Given the description of an element on the screen output the (x, y) to click on. 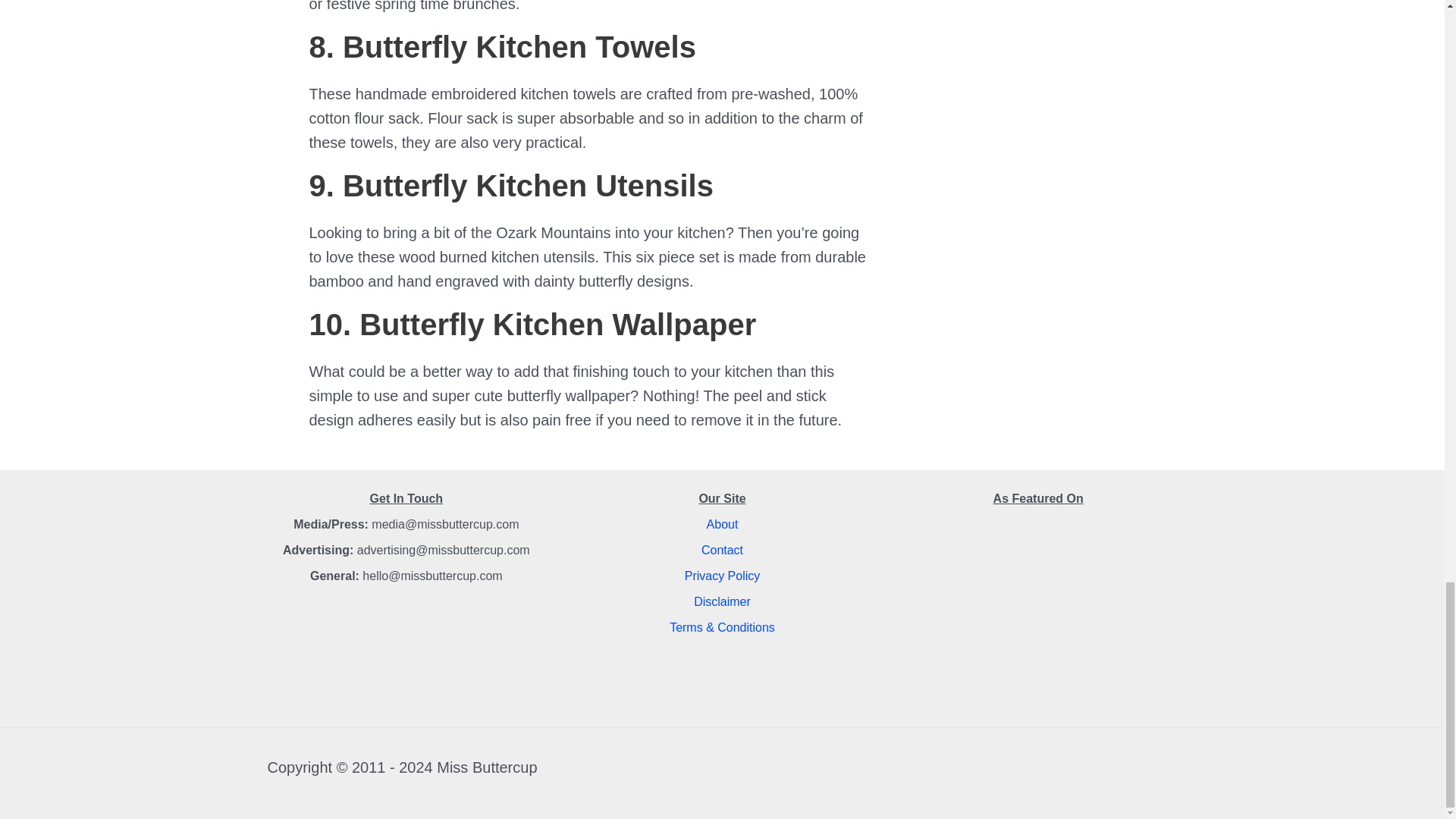
Contact (721, 549)
About (722, 523)
Privacy Policy (722, 575)
Disclaimer (722, 601)
